Given the description of an element on the screen output the (x, y) to click on. 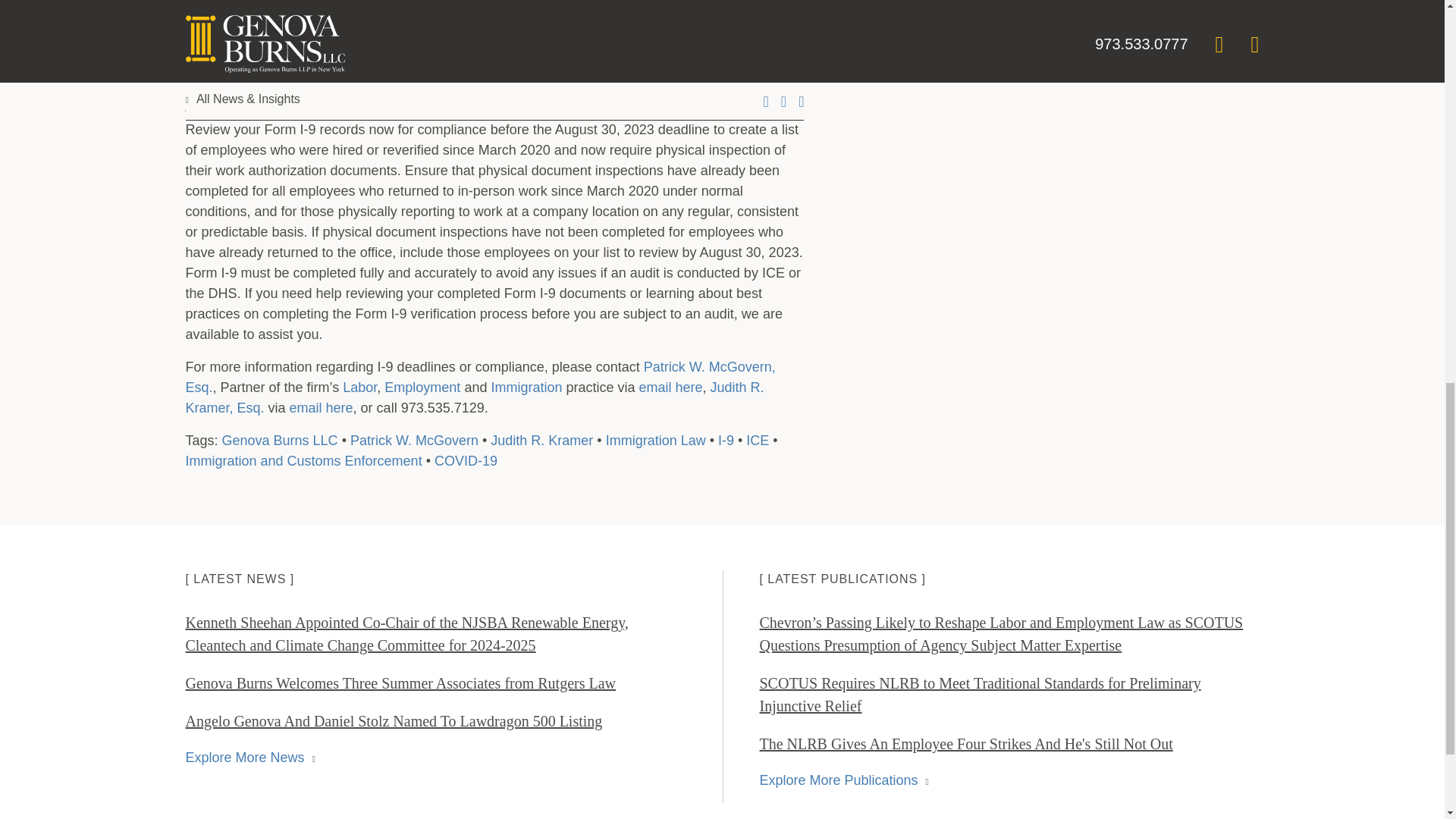
Patrick W. McGovern, Esq. (479, 376)
Judith R. Kramer (541, 440)
Immigration Law (655, 440)
Judith R. Kramer, Esq. (473, 397)
Labor (359, 387)
Immigration (526, 387)
email here (321, 407)
email here (670, 387)
Genova Burns LLC (279, 440)
Employment (422, 387)
Patrick W. McGovern (414, 440)
ICE Newsroom (479, 58)
